Given the description of an element on the screen output the (x, y) to click on. 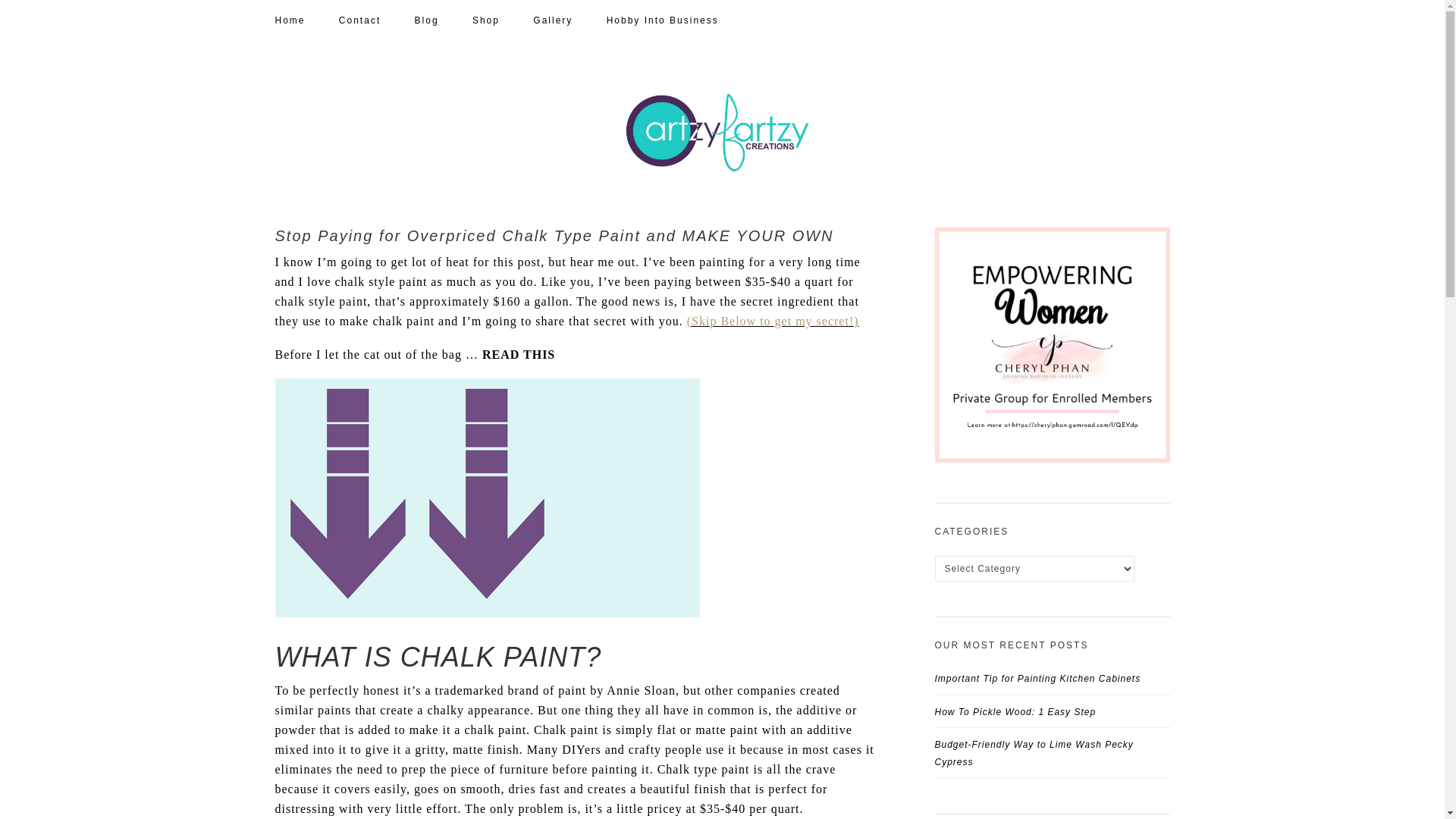
Shop (500, 20)
Important Tip for Painting Kitchen Cabinets (1037, 678)
Home (304, 20)
Budget-Friendly Way to Lime Wash Pecky Cypress (1033, 753)
How To Pickle Wood: 1 Easy Step (1015, 711)
Blog (441, 20)
Contact (374, 20)
Artzy Fartzy Creations (722, 133)
Hobby Into Business (678, 20)
Gallery (567, 20)
